Given the description of an element on the screen output the (x, y) to click on. 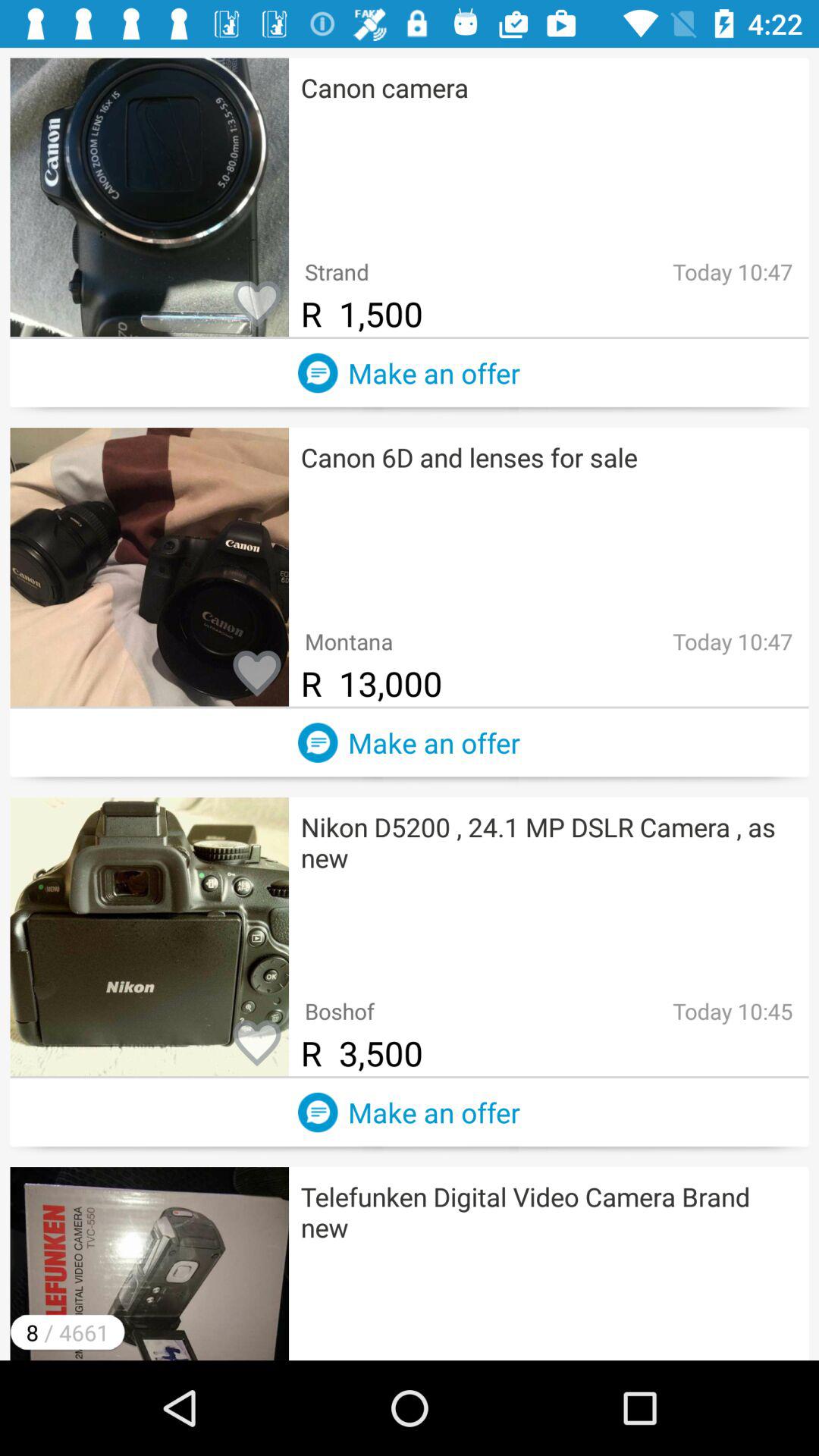
favorite (256, 1044)
